Given the description of an element on the screen output the (x, y) to click on. 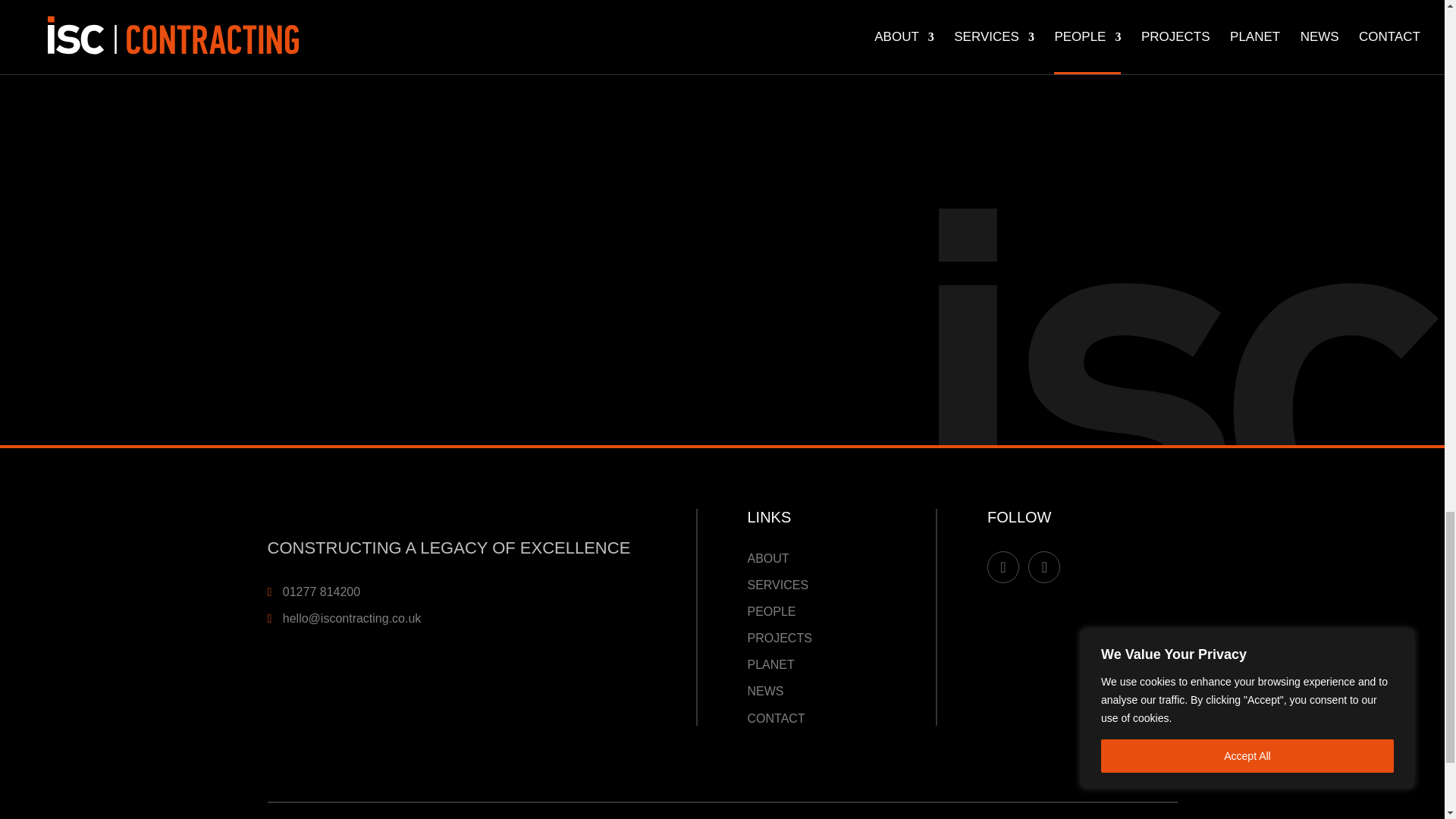
01277 814200 (320, 591)
